Given the description of an element on the screen output the (x, y) to click on. 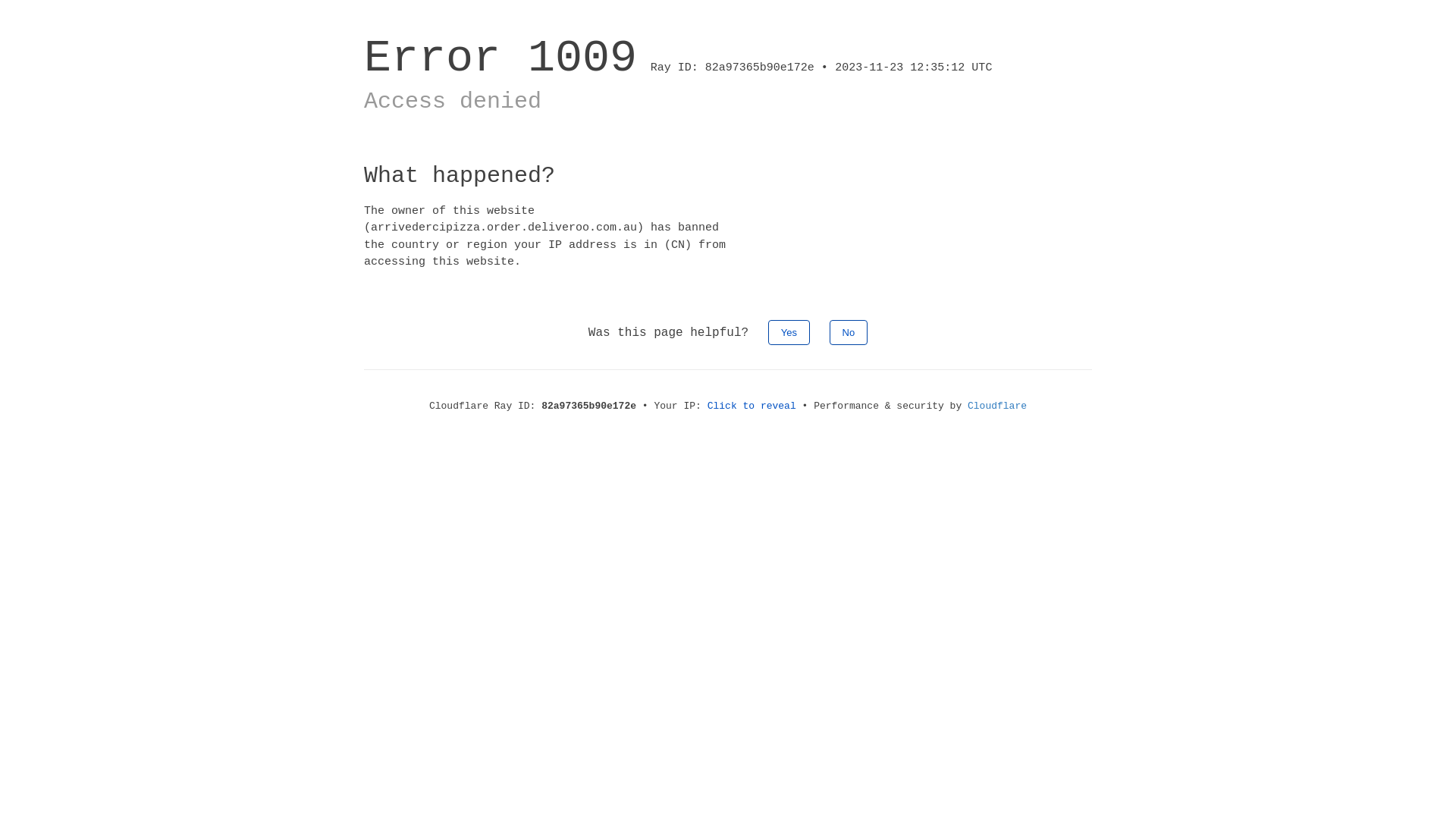
Click to reveal Element type: text (751, 405)
Cloudflare Element type: text (996, 405)
No Element type: text (848, 332)
Yes Element type: text (788, 332)
